Given the description of an element on the screen output the (x, y) to click on. 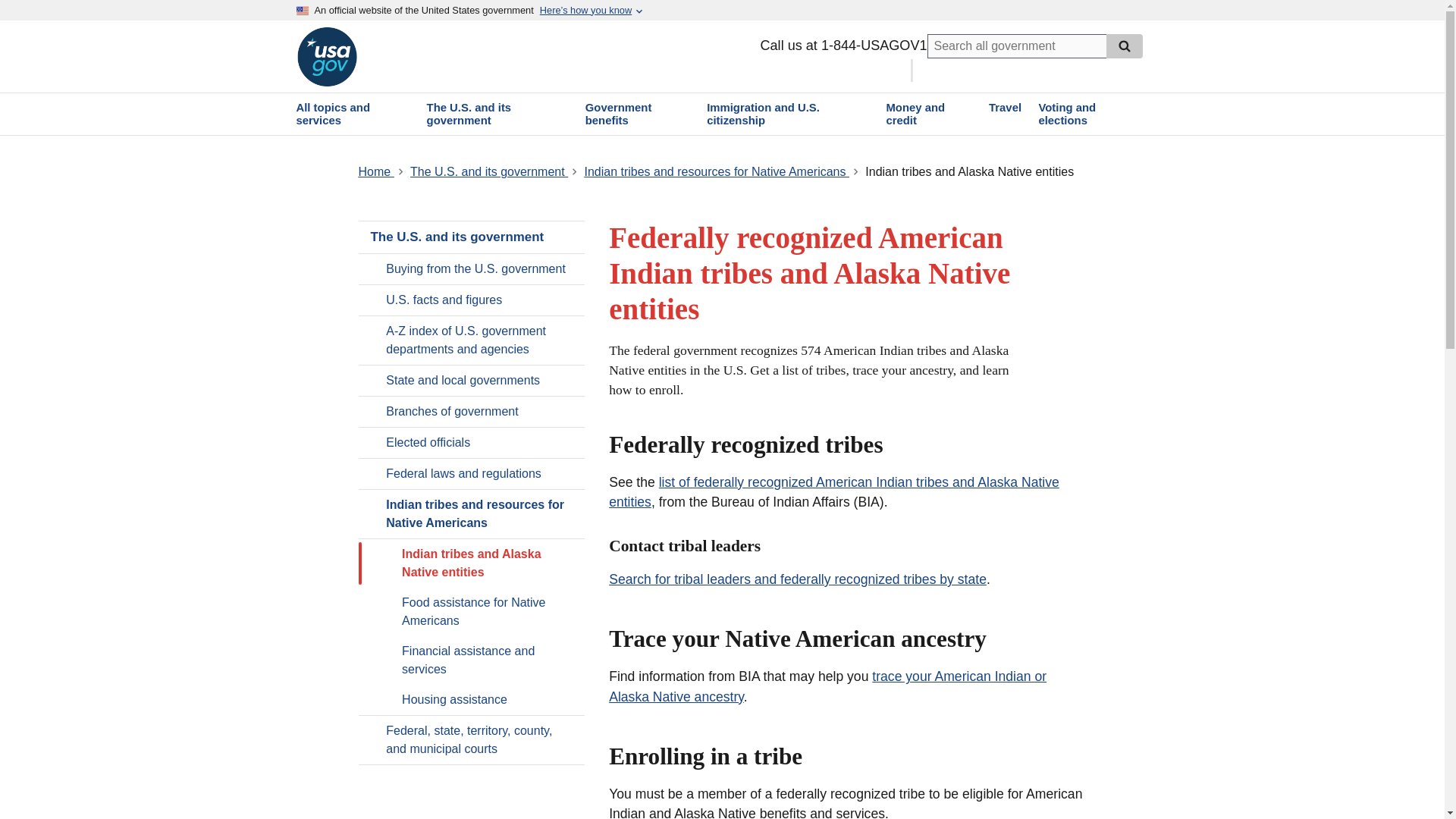
Voting and elections (1088, 114)
Housing assistance (471, 699)
The U.S. and its government (471, 236)
State and local governments (471, 380)
Financial assistance and services (471, 660)
Elected officials (471, 442)
Food assistance for Native Americans (471, 612)
Immigration and U.S. citizenship (787, 114)
Travel (1004, 107)
The U.S. and its government (488, 171)
The U.S. and its government (496, 114)
Government benefits (637, 114)
Indian tribes and resources for Native Americans (471, 513)
Call us at 1-844-USAGOV1 (840, 44)
Buying from the U.S. government (471, 268)
